Given the description of an element on the screen output the (x, y) to click on. 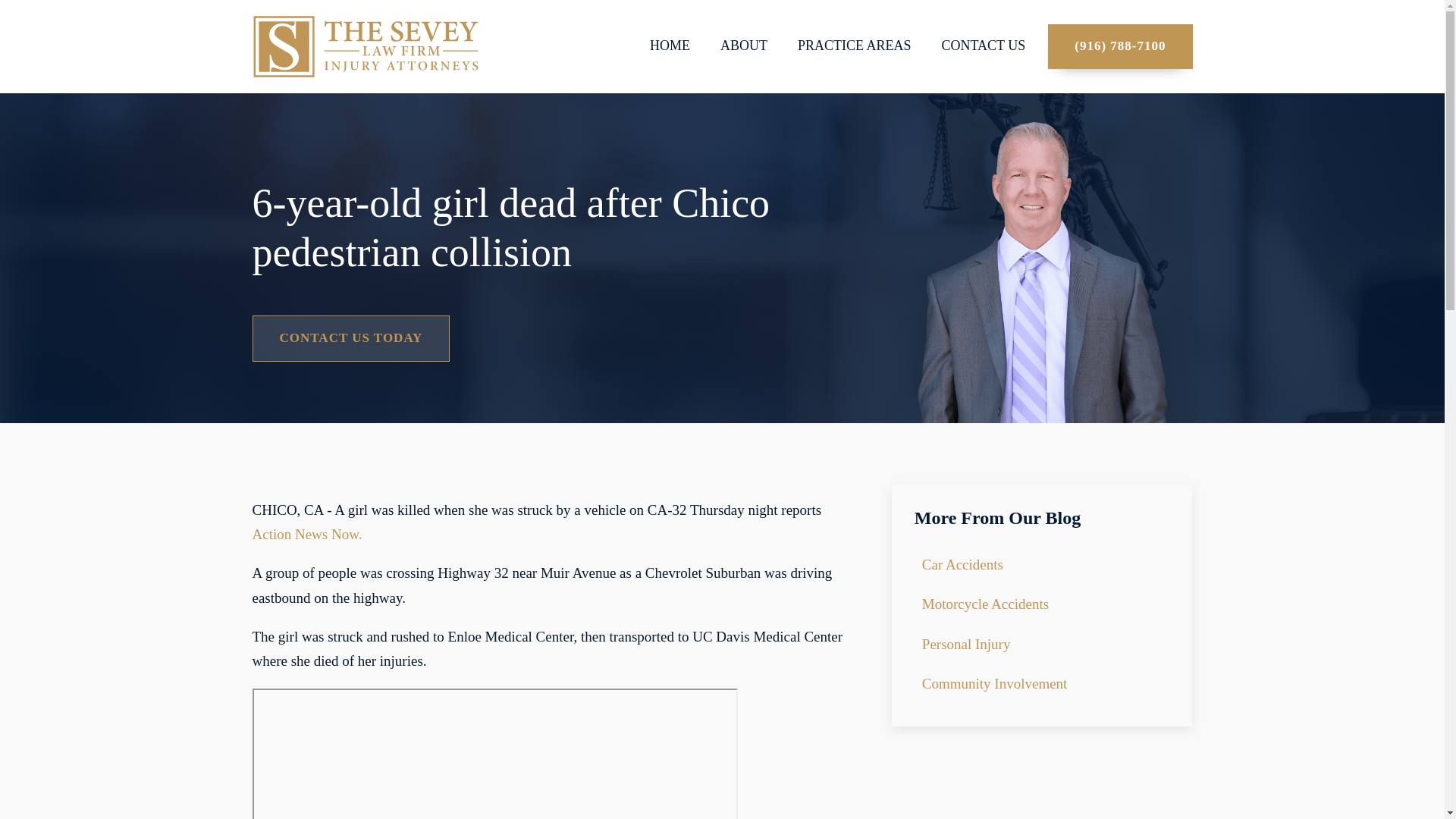
ABOUT (743, 46)
Motorcycle Accidents (994, 604)
CONTACT US TODAY (350, 338)
Personal Injury (994, 644)
Community Involvement (994, 683)
HOME (669, 46)
Action News Now. (306, 534)
Car Accidents (994, 564)
PRACTICE AREAS (854, 46)
CONTACT US (983, 46)
